Given the description of an element on the screen output the (x, y) to click on. 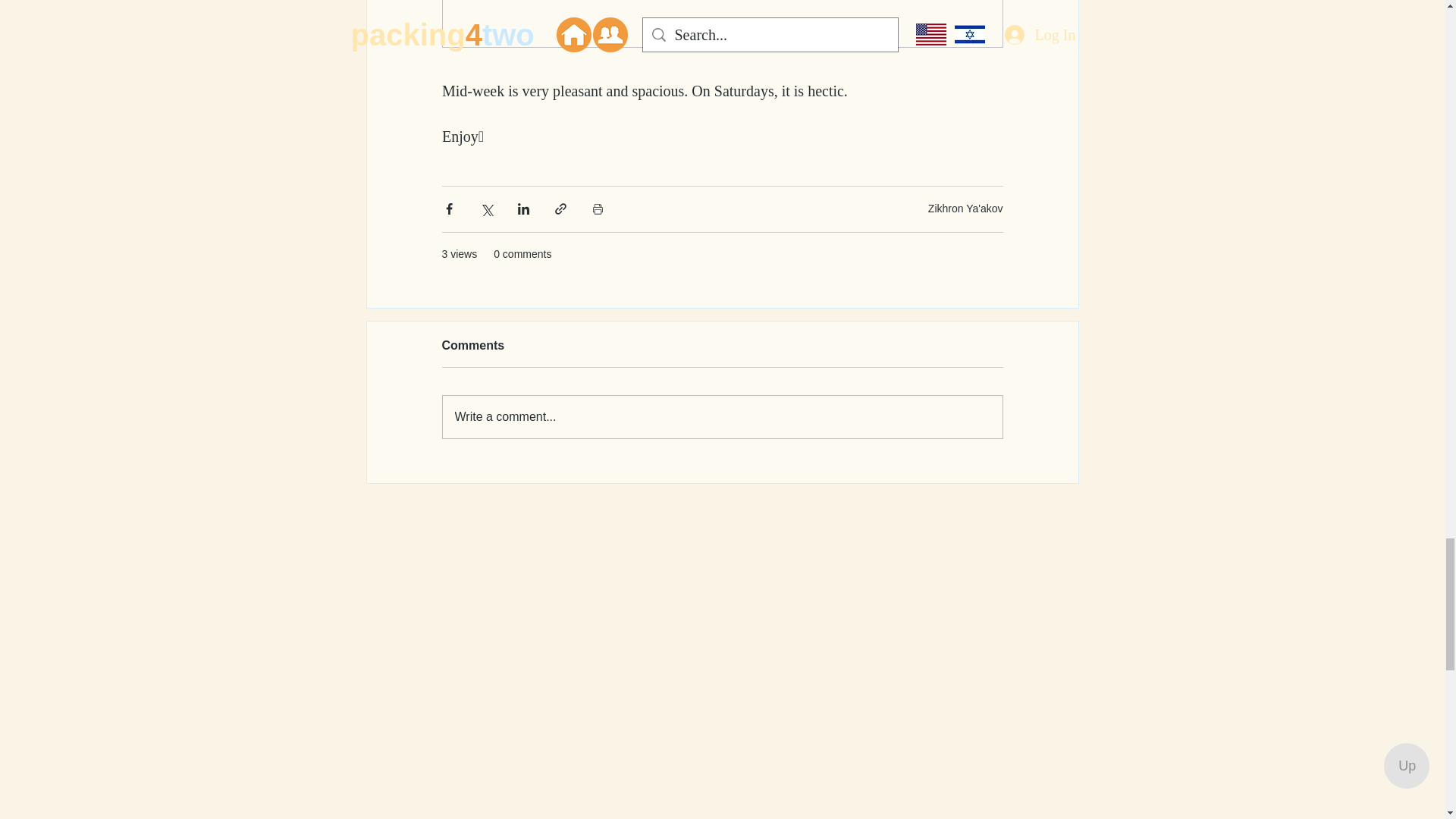
Write a comment... (722, 416)
Zikhron Ya'akov (965, 208)
